Given the description of an element on the screen output the (x, y) to click on. 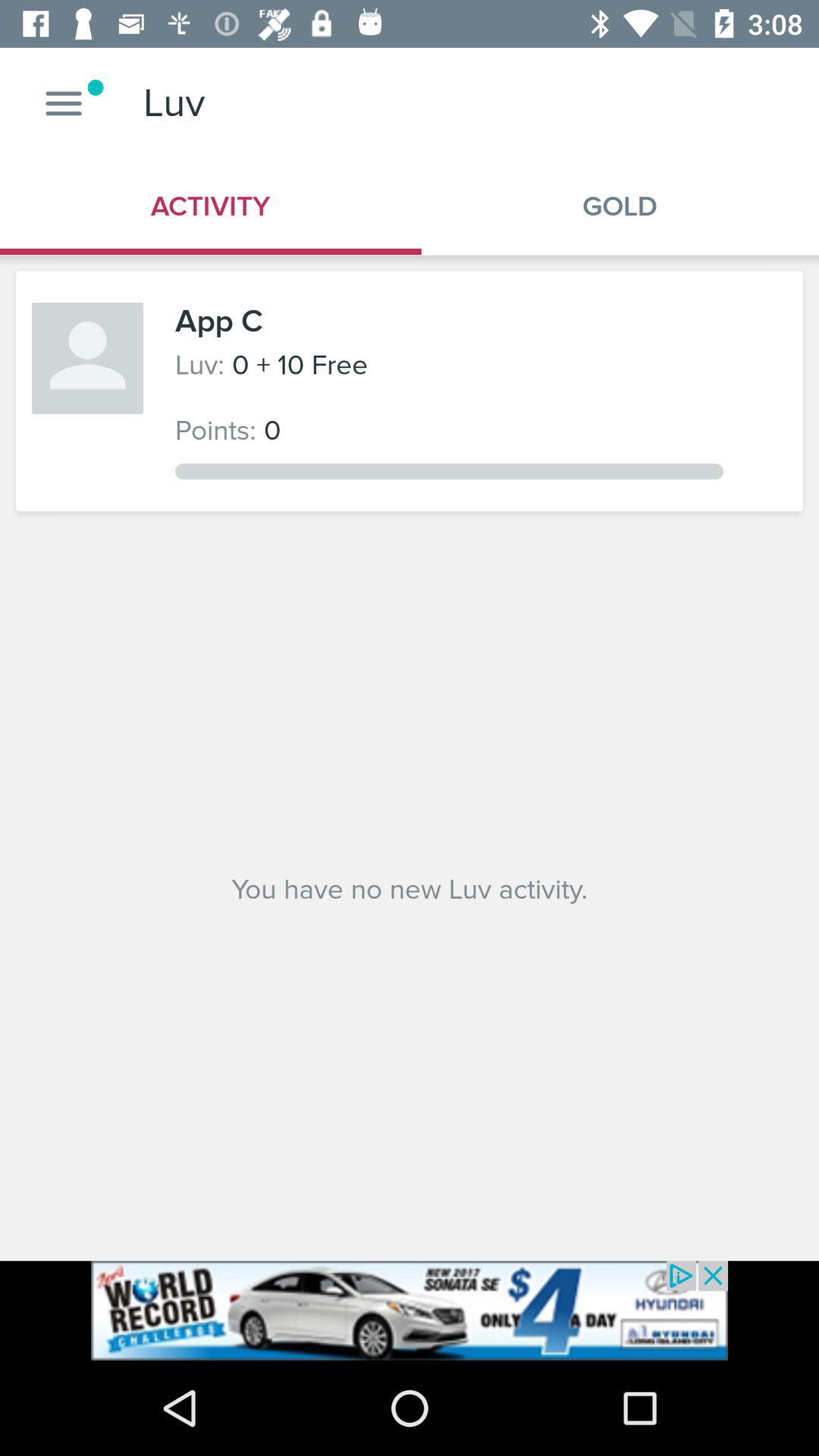
view blink advertisement (409, 1310)
